Given the description of an element on the screen output the (x, y) to click on. 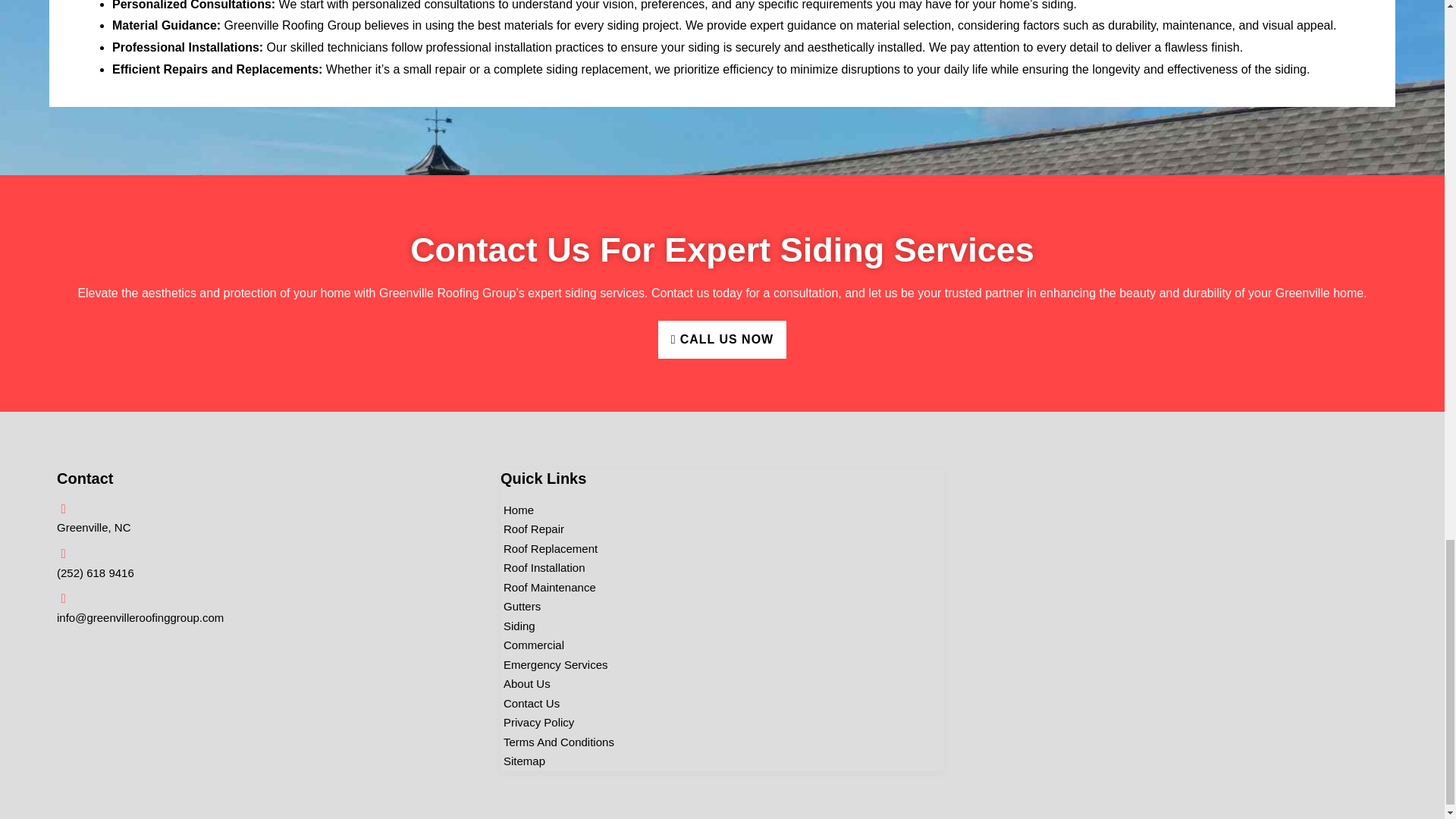
Roof Repair (532, 528)
Siding (517, 626)
Roof Replacement (548, 548)
Roof Maintenance (547, 587)
Greenville, NC (1165, 582)
Home (517, 510)
Contact Us (529, 703)
About Us (525, 683)
Privacy Policy (536, 722)
CALL US NOW (722, 339)
Commercial (532, 645)
Gutters (520, 606)
Emergency Services (554, 664)
Roof Installation (542, 567)
